Given the description of an element on the screen output the (x, y) to click on. 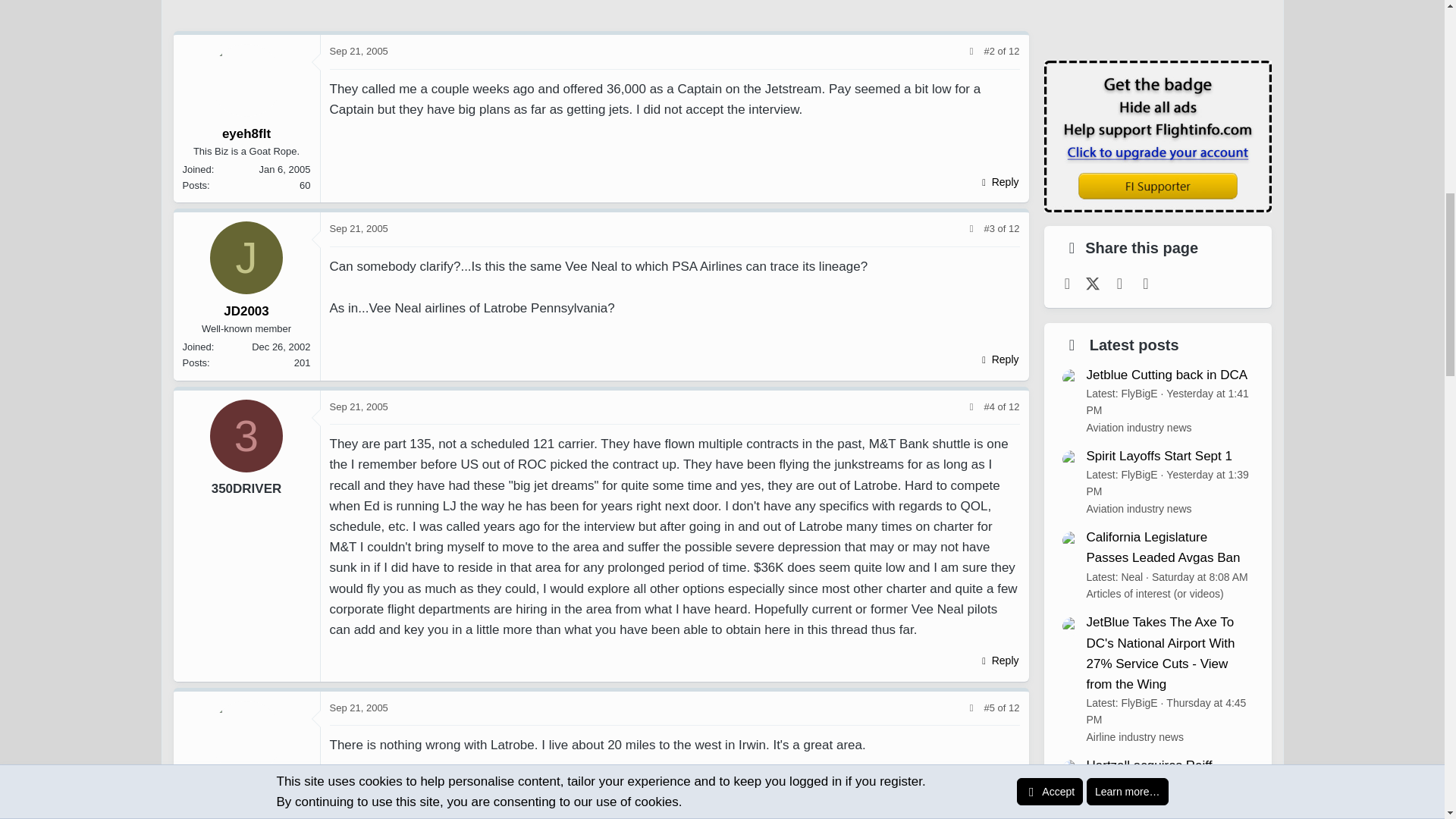
Reply, quoting this message (998, 359)
Sep 21, 2005 at 12:43 PM (358, 228)
Go to latest (1014, 50)
350DRIVER (245, 434)
Sep 21, 2005 at 11:10 AM (358, 50)
Go to latest (1014, 228)
Sep 21, 2005 at 3:12 PM (358, 405)
Reply, quoting this message (998, 181)
